Given the description of an element on the screen output the (x, y) to click on. 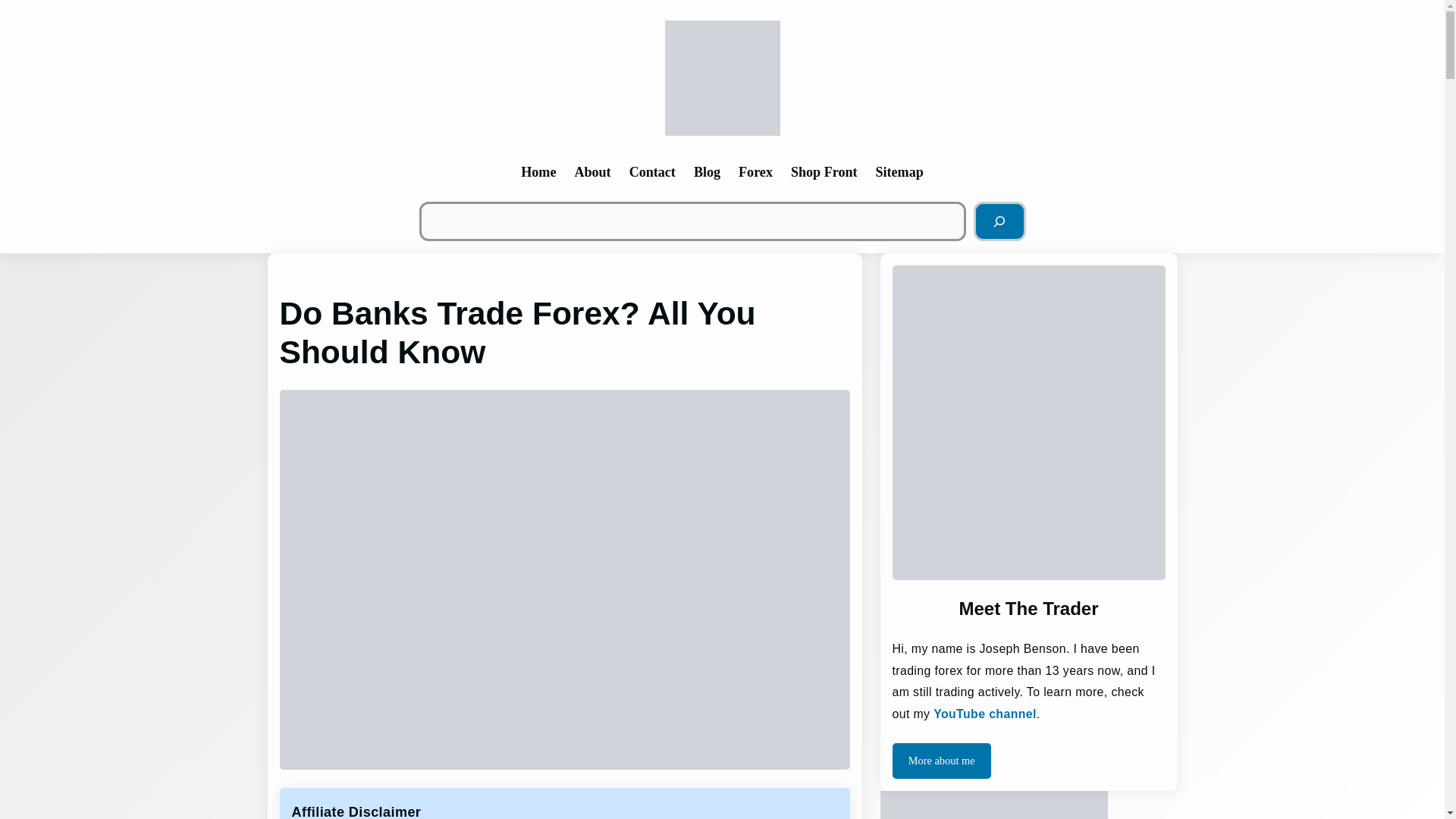
Home (538, 172)
About (591, 172)
Contact (651, 172)
Blog (707, 172)
Sitemap (899, 172)
Shop Front (823, 172)
YouTube channel (984, 713)
More about me (940, 760)
Forex (755, 172)
